Given the description of an element on the screen output the (x, y) to click on. 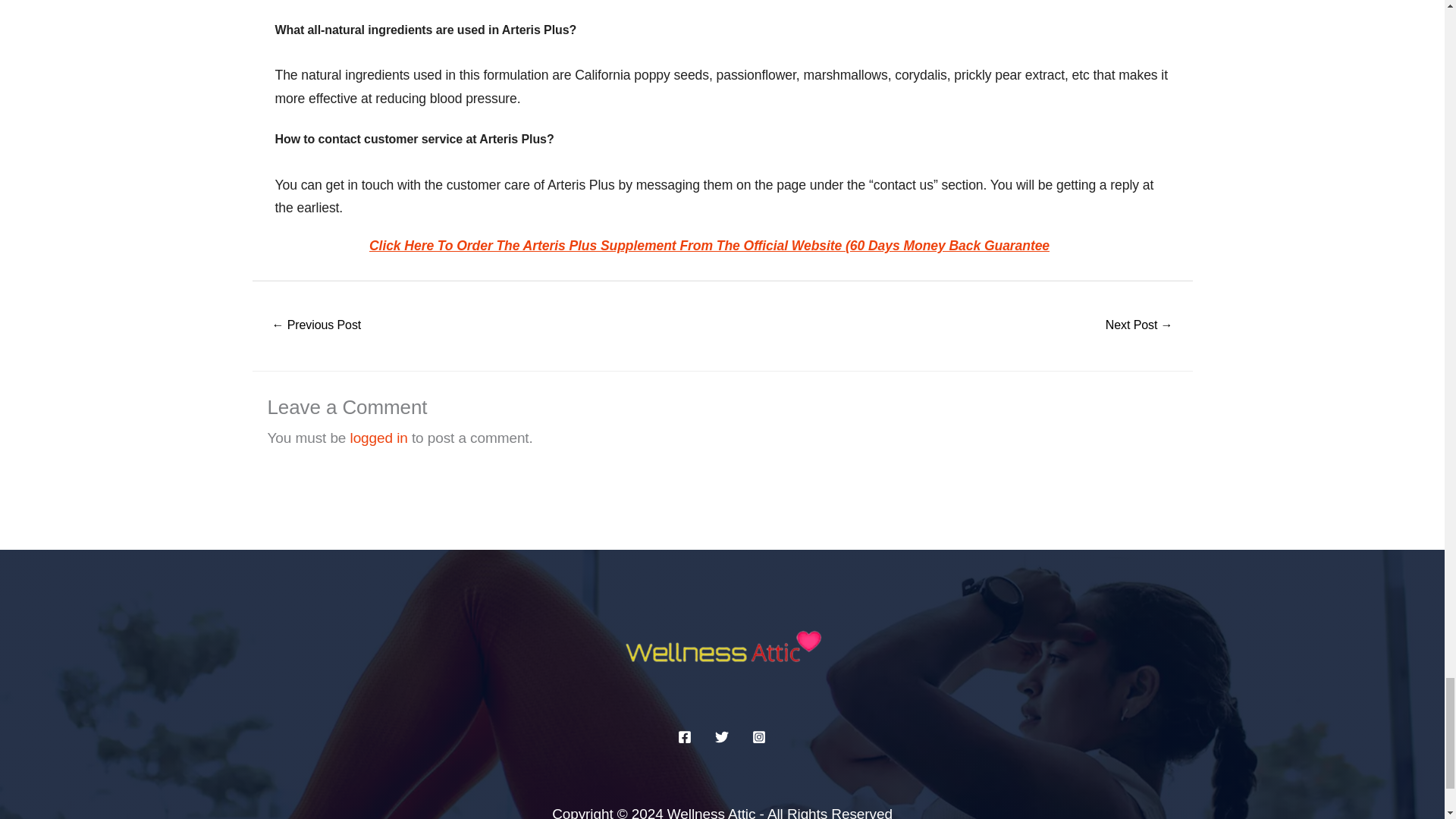
Keto Advanced 1500 Reviews : Legit Product Or Not? (1139, 326)
When Is the Best Time to Take Creatine? (315, 326)
logged in (378, 437)
